Given the description of an element on the screen output the (x, y) to click on. 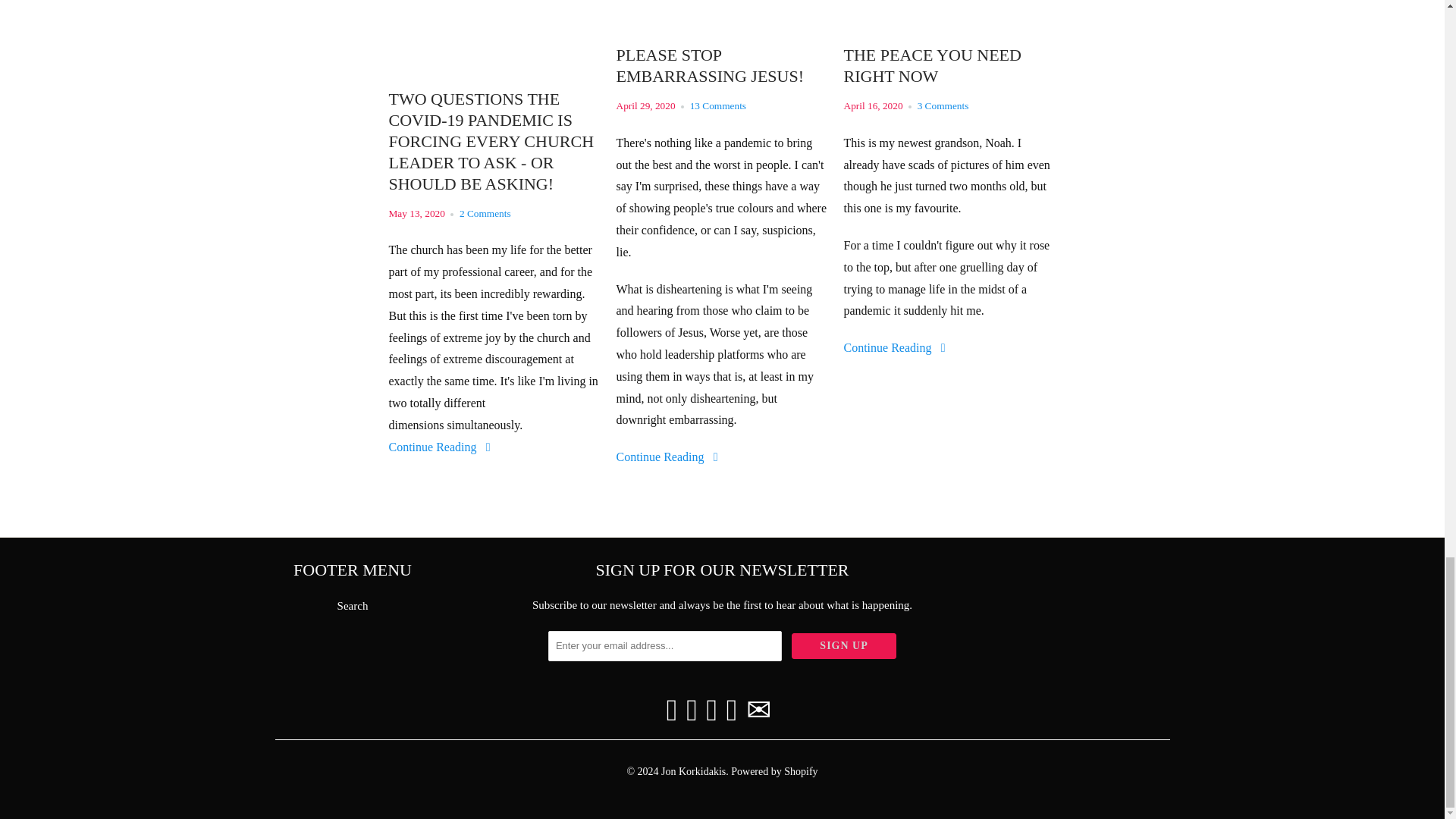
Continue Reading (440, 446)
Sign Up (844, 646)
2 Comments (485, 213)
Please Stop Embarrassing Jesus! (721, 65)
PLEASE STOP EMBARRASSING JESUS! (721, 65)
Please Stop Embarrassing Jesus! (721, 22)
